Given the description of an element on the screen output the (x, y) to click on. 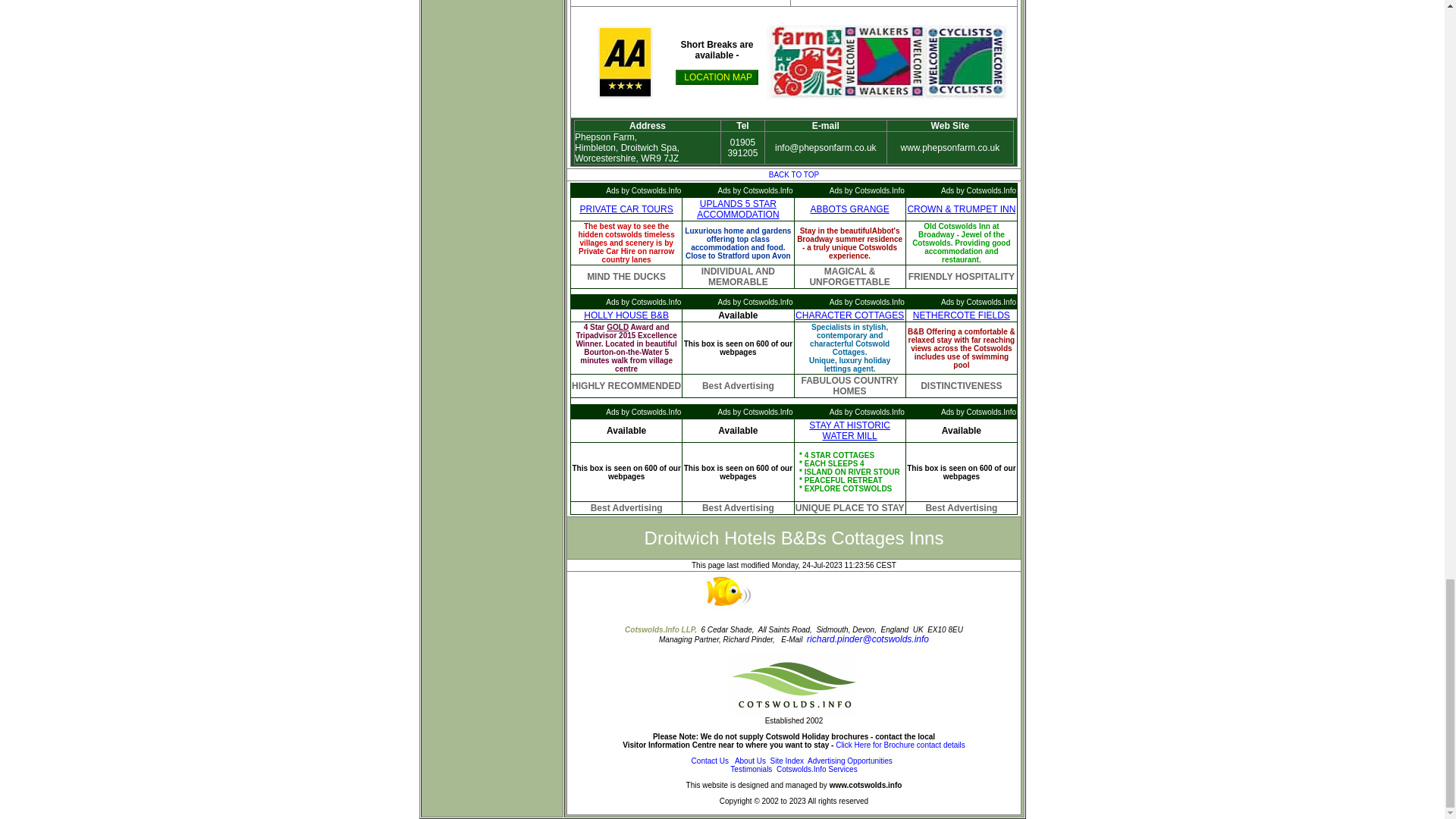
 LOCATION MAP (716, 77)
